Given the description of an element on the screen output the (x, y) to click on. 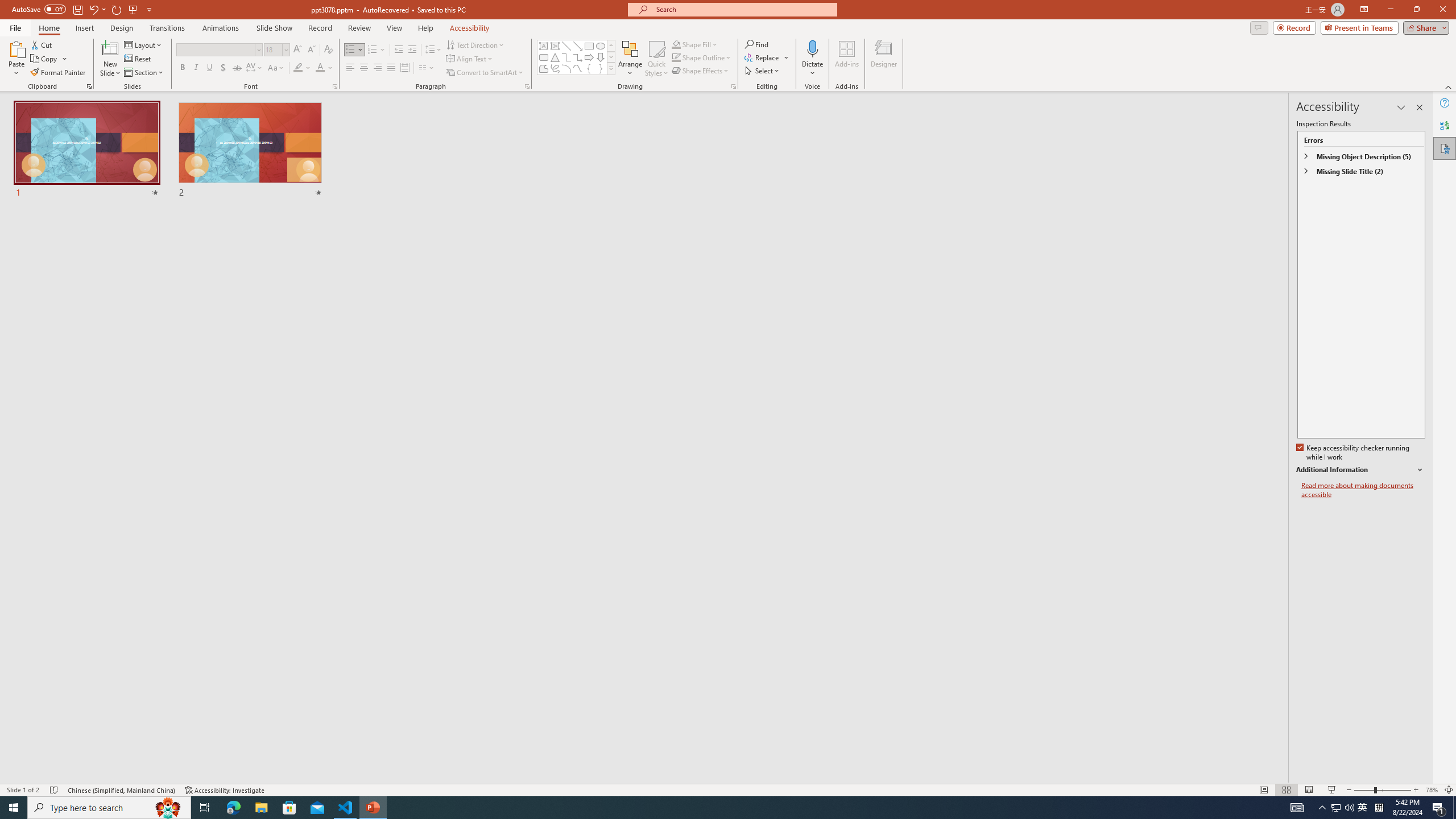
Shape Outline Green, Accent 1 (675, 56)
